Given the description of an element on the screen output the (x, y) to click on. 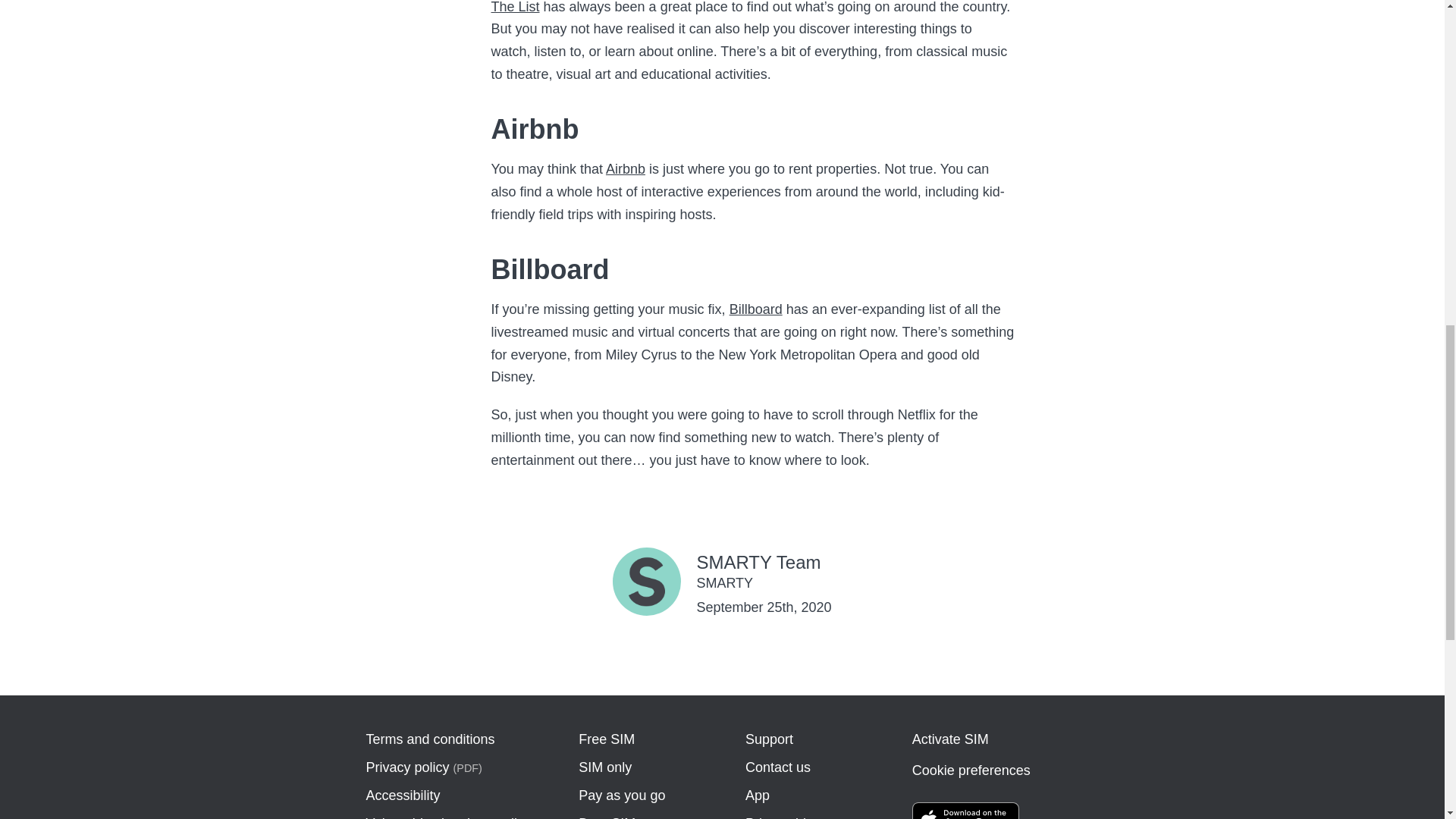
Terms and conditions (430, 739)
Airbnb (625, 168)
SIM only (604, 767)
Billboard (756, 309)
The List (516, 7)
Pay as you go (621, 795)
Data SIM (606, 817)
Contact us (777, 767)
Support (769, 739)
App (757, 795)
Accessibility (402, 795)
Free SIM (606, 739)
